Given the description of an element on the screen output the (x, y) to click on. 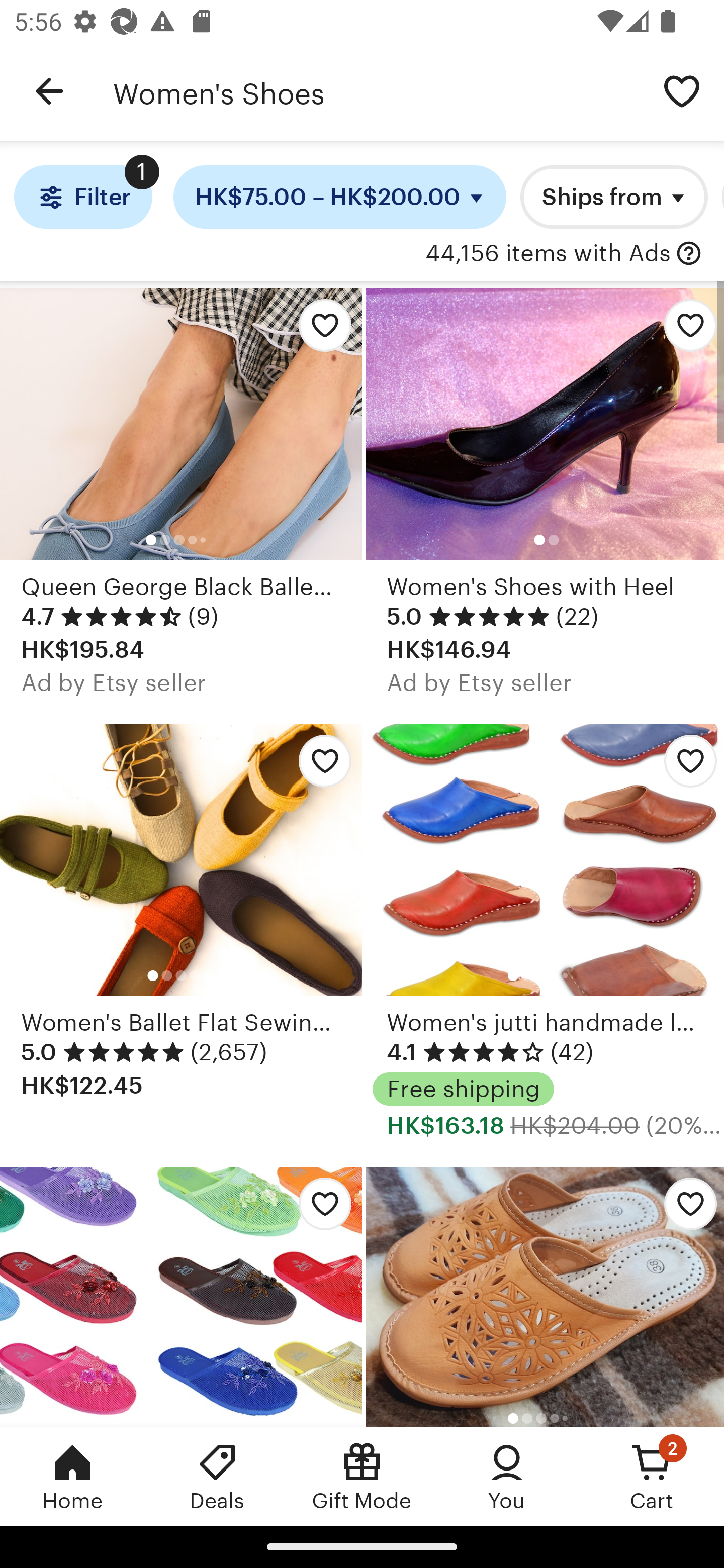
Navigate up (49, 91)
Save search (681, 90)
Women's Shoes (375, 91)
Filter (82, 197)
HK$75.00 – HK$200.00 (339, 197)
Ships from (614, 197)
44,156 items with Ads (548, 253)
with Ads (688, 253)
Add Women's Shoes with Heel to favorites (683, 330)
Deals (216, 1475)
Gift Mode (361, 1475)
You (506, 1475)
Cart, 2 new notifications Cart (651, 1475)
